Given the description of an element on the screen output the (x, y) to click on. 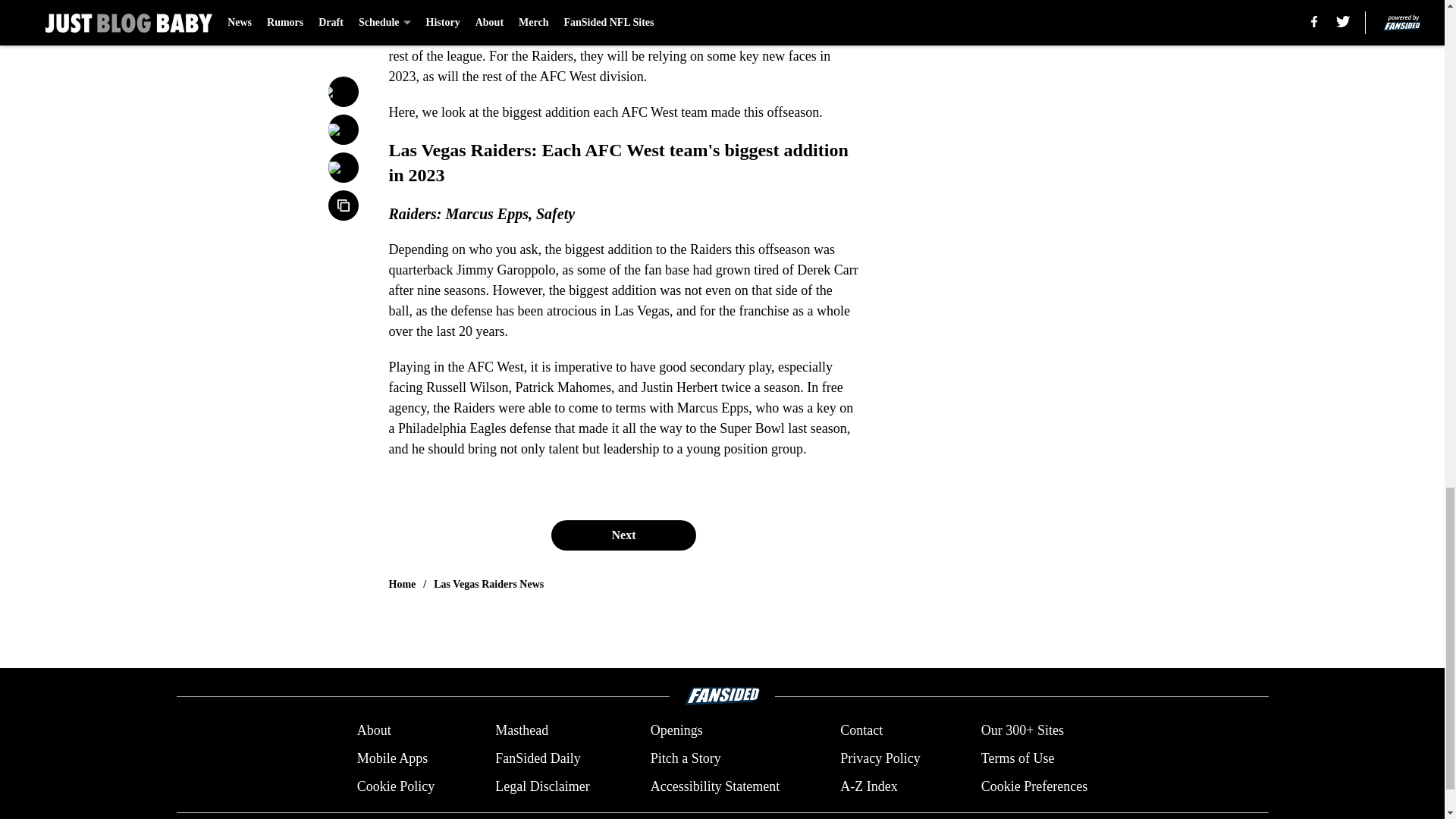
Legal Disclaimer (542, 786)
Masthead (521, 730)
Next (622, 535)
Contact (861, 730)
Terms of Use (1017, 758)
Pitch a Story (685, 758)
Cookie Policy (395, 786)
Mobile Apps (392, 758)
Las Vegas Raiders News (488, 584)
Home (401, 584)
Accessibility Statement (714, 786)
A-Z Index (868, 786)
Openings (676, 730)
About (373, 730)
Privacy Policy (880, 758)
